Given the description of an element on the screen output the (x, y) to click on. 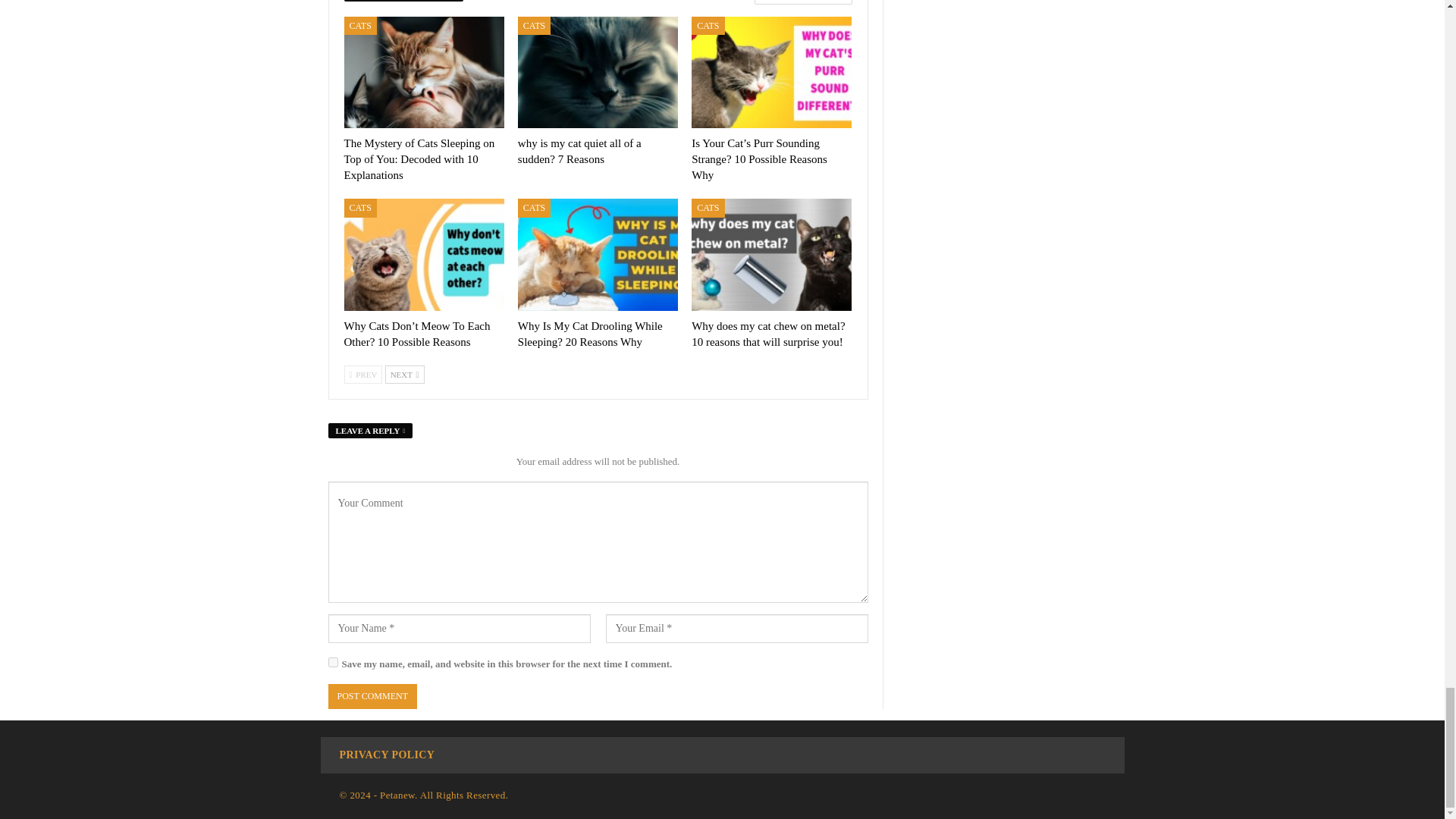
why is my cat quiet all of a sudden? 7 Reasons (598, 72)
Why Is My Cat Drooling While Sleeping? 20 Reasons Why (590, 334)
CATS (534, 25)
CATS (707, 25)
CATS (360, 25)
Previous (362, 374)
Next (405, 374)
Post Comment (371, 696)
why is my cat quiet all of a sudden? 7 Reasons (580, 151)
More From Author (798, 2)
